Given the description of an element on the screen output the (x, y) to click on. 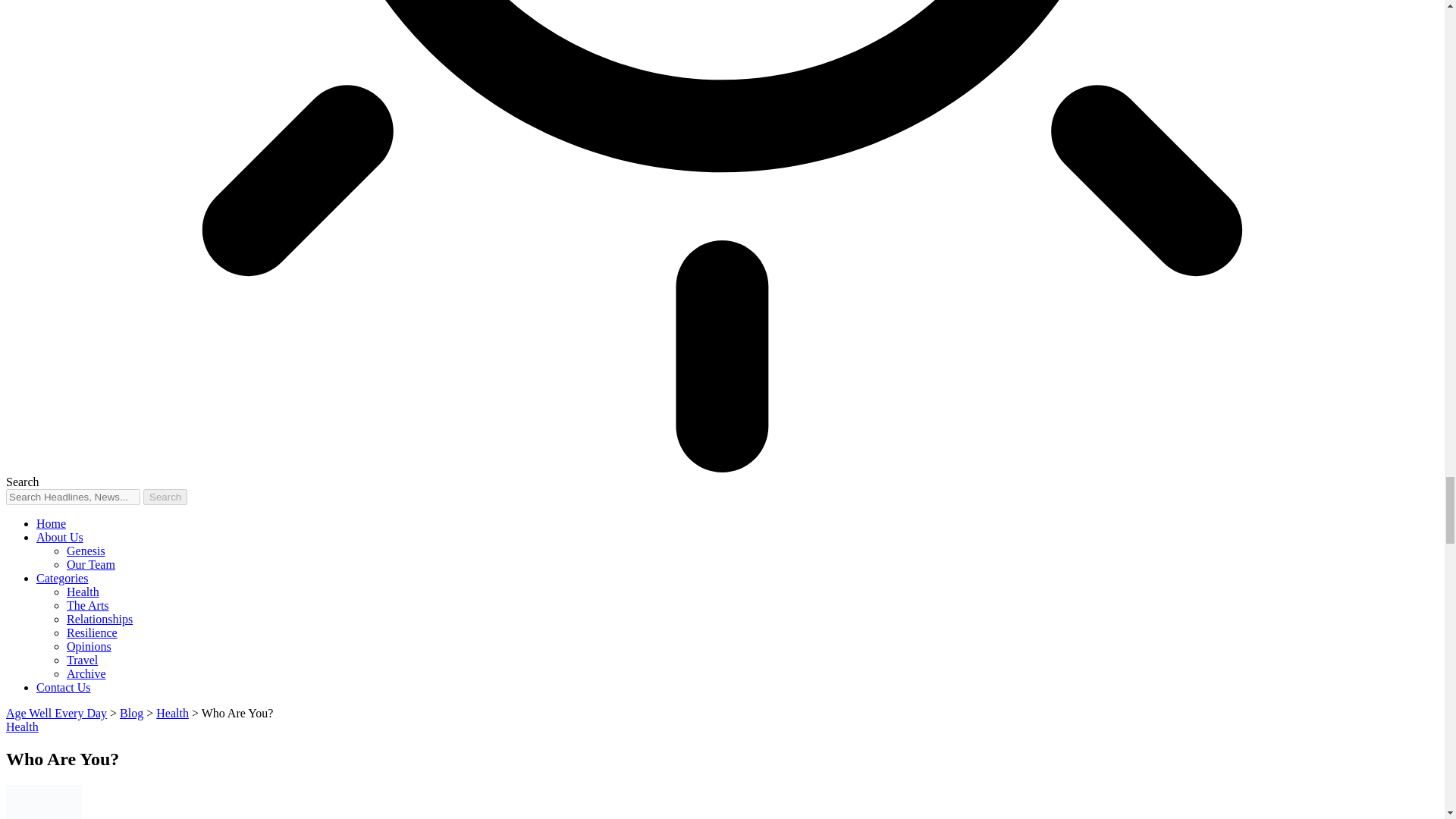
Opinions (89, 645)
About Us (59, 536)
Our Team (90, 563)
Travel (81, 659)
Resilience (91, 632)
Search (164, 496)
The Arts (87, 604)
Go to the Health Category archives. (172, 712)
Relationships (99, 618)
Health (82, 591)
